Given the description of an element on the screen output the (x, y) to click on. 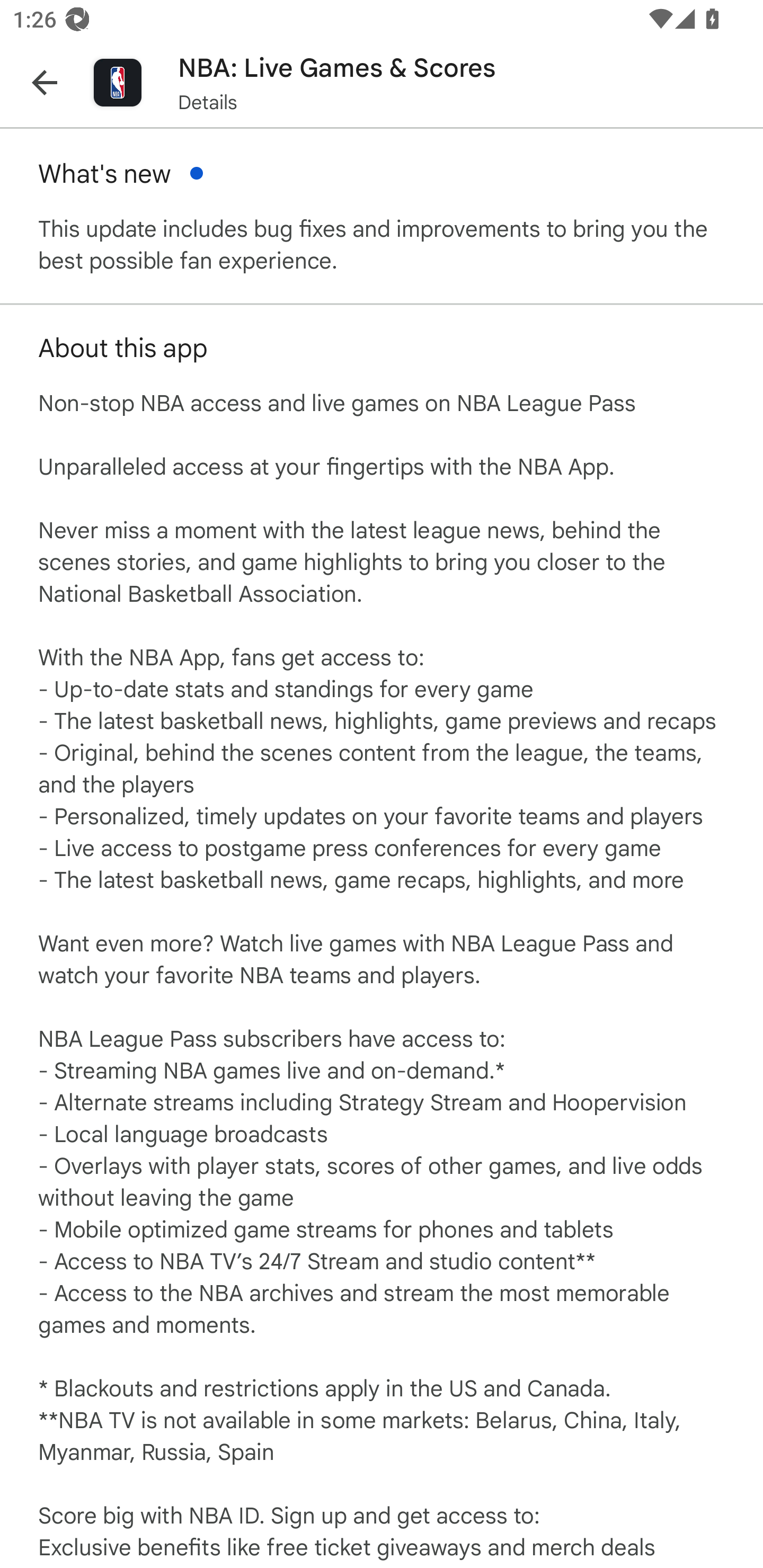
Navigate up (44, 82)
